Given the description of an element on the screen output the (x, y) to click on. 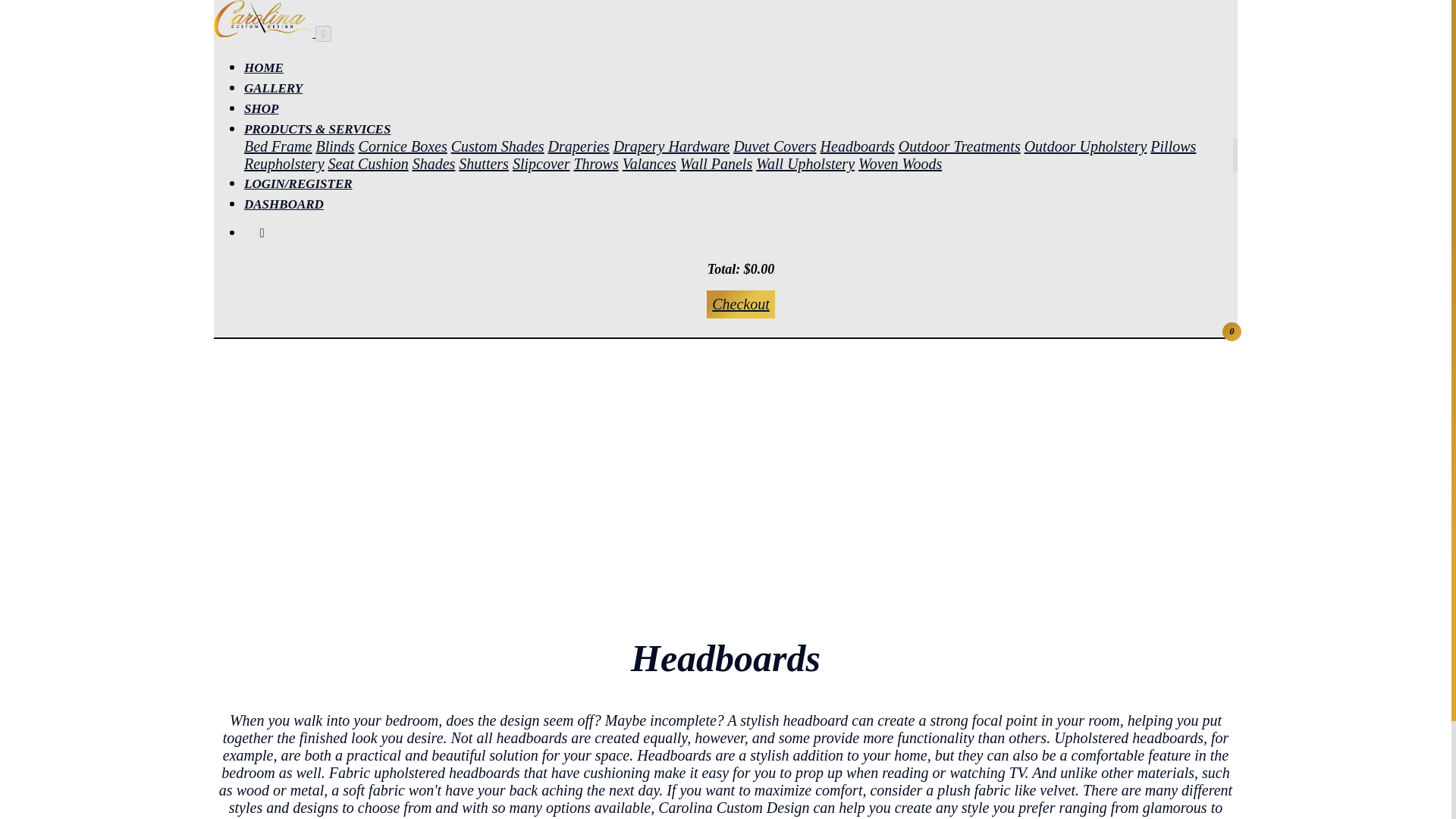
Slipcover (541, 162)
Shutters (483, 162)
Drapery Hardware (671, 145)
Cornice Boxes (402, 145)
Shades (433, 162)
Custom Shades (497, 145)
Throws (595, 162)
Woven Woods (900, 162)
Wall Upholstery (804, 162)
